Given the description of an element on the screen output the (x, y) to click on. 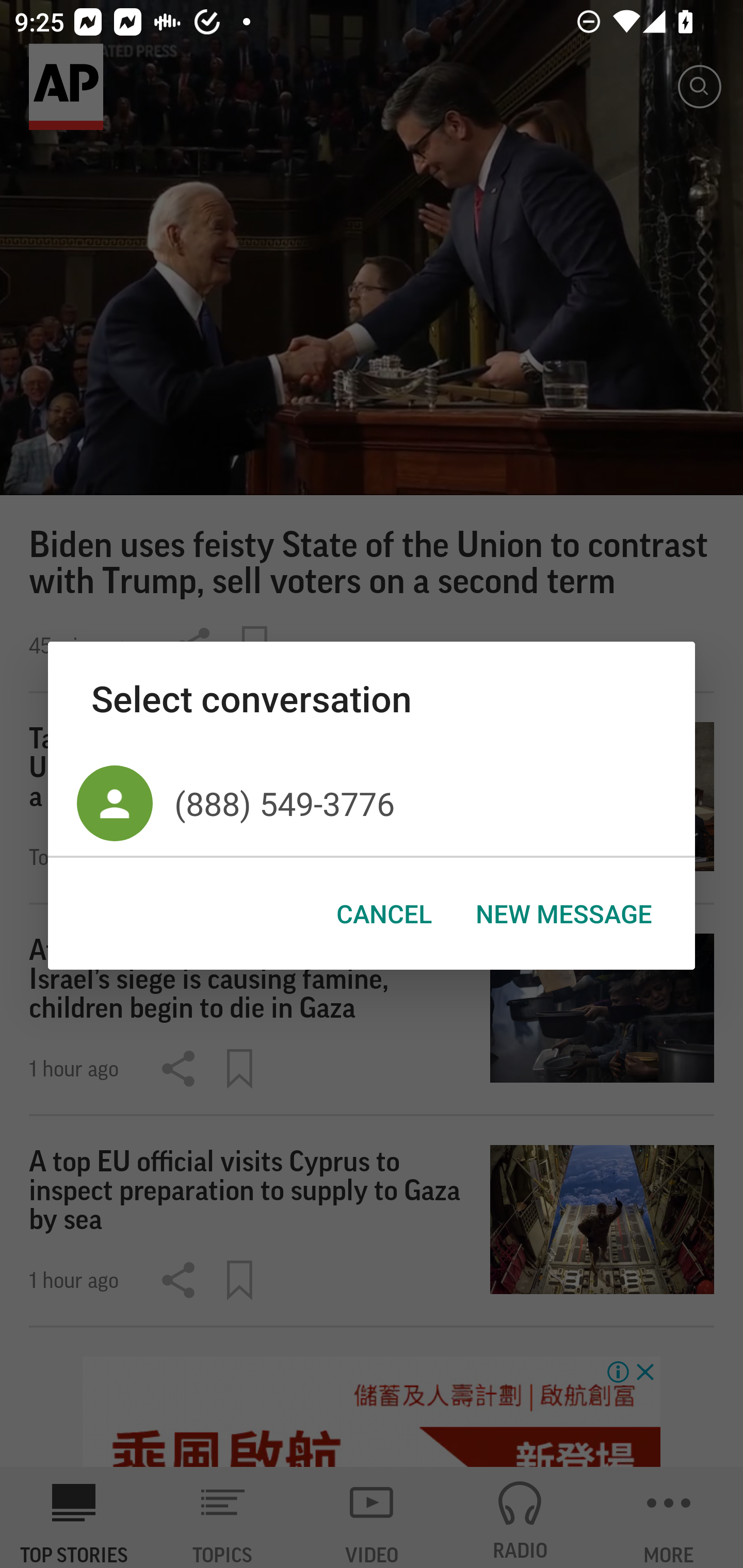
CANCEL (384, 913)
NEW MESSAGE (563, 913)
